Given the description of an element on the screen output the (x, y) to click on. 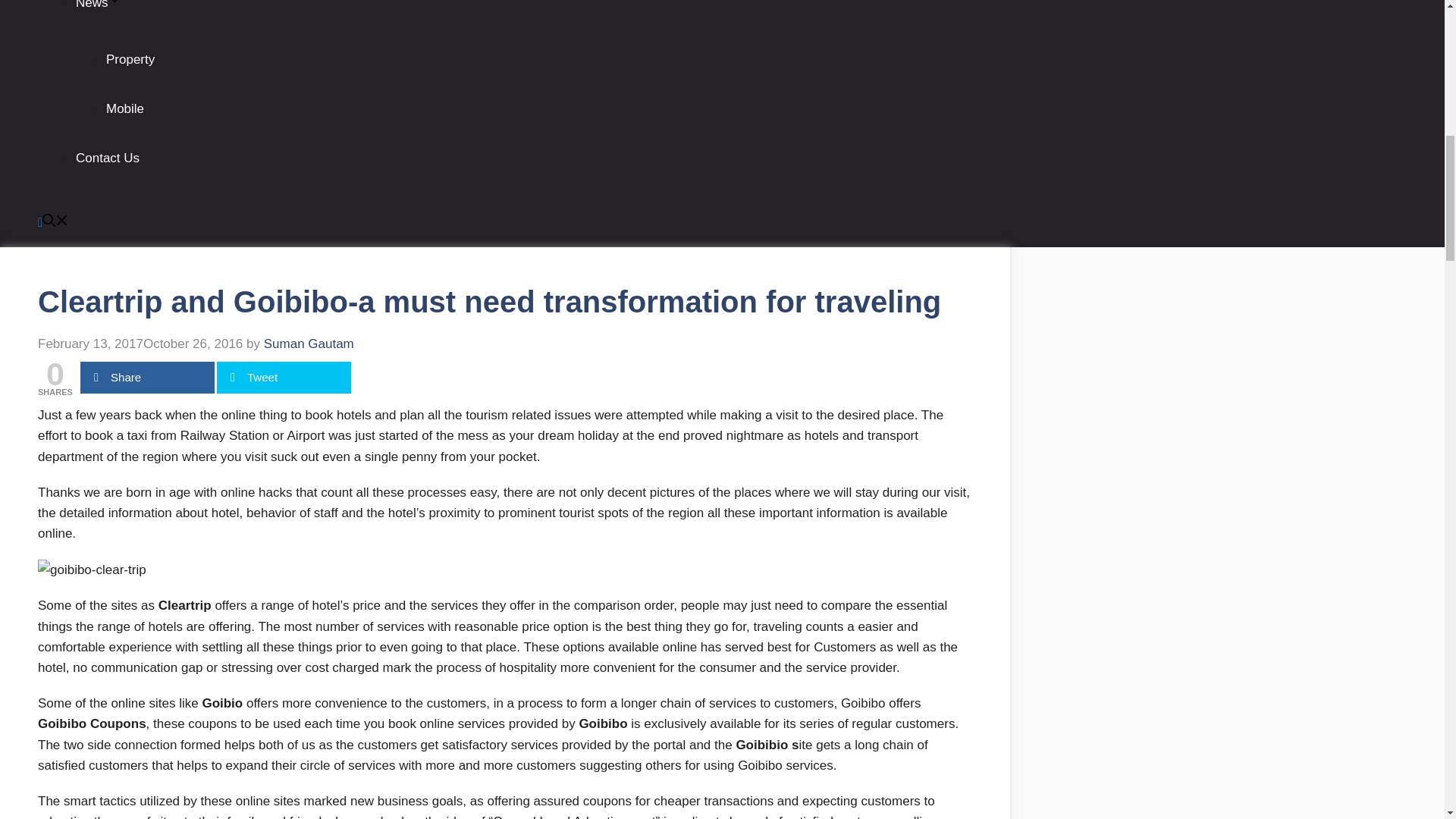
Tweet (283, 377)
News (97, 4)
Suman Gautam (308, 343)
Share (147, 377)
Scroll back to top (1406, 720)
Contact Us (107, 157)
View all posts by Suman Gautam (308, 343)
Property (130, 59)
Mobile (125, 108)
